Given the description of an element on the screen output the (x, y) to click on. 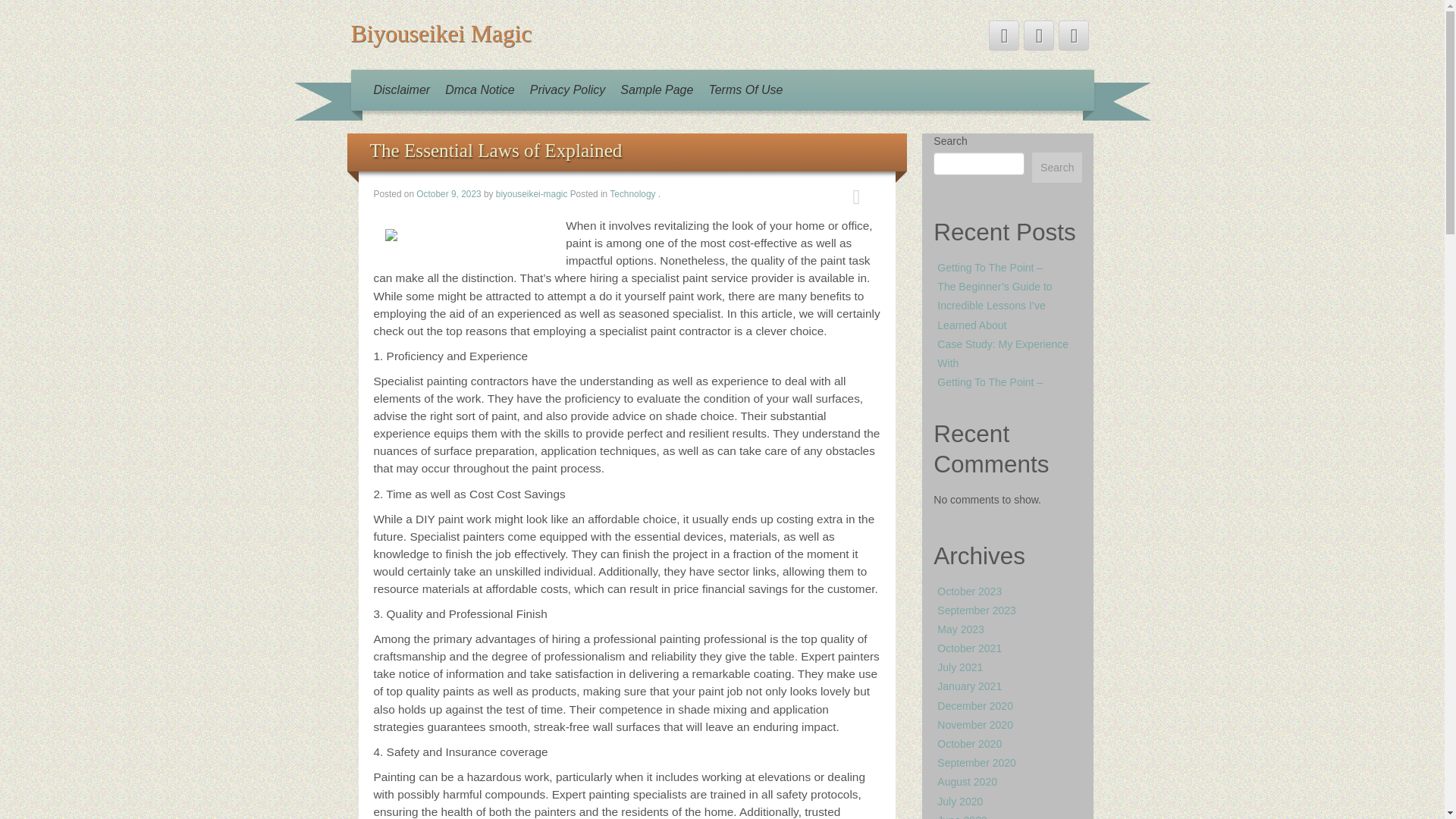
June 2020 (962, 816)
May 2023 (960, 629)
Biyouseikei Magic Googleplus (1073, 35)
Sample Page (656, 89)
August 2020 (967, 781)
December 2020 (975, 705)
October 2023 (969, 591)
October 2020 (969, 743)
September 2020 (976, 762)
November 2020 (975, 725)
October 2021 (969, 648)
Biyouseikei Magic (440, 33)
Disclaimer (401, 89)
Privacy Policy (567, 89)
Biyouseikei Magic Twitter (1003, 35)
